Given the description of an element on the screen output the (x, y) to click on. 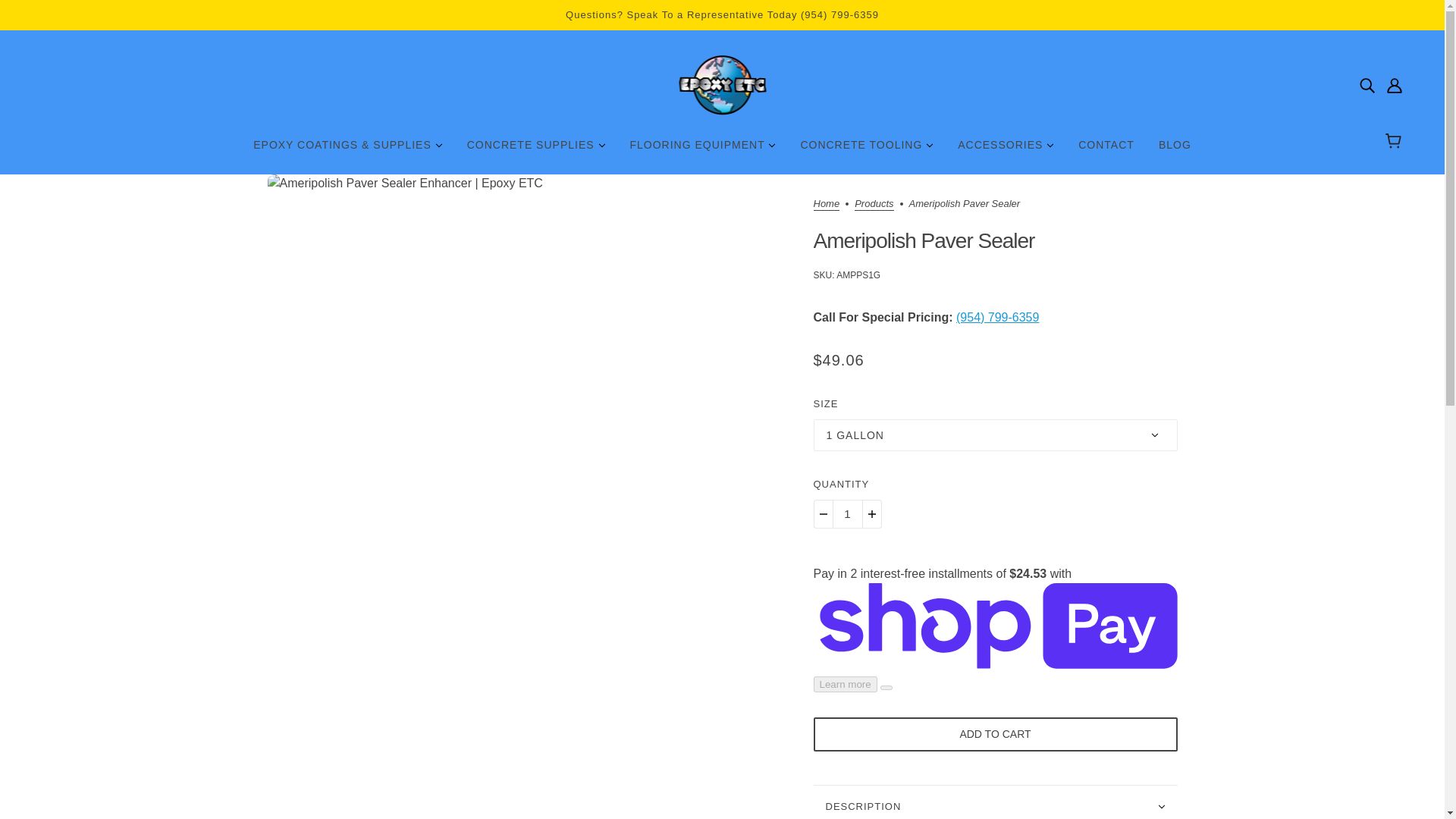
1 (846, 513)
CONCRETE TOOLING (865, 150)
FLOORING EQUIPMENT (702, 150)
EpoxyETC (722, 84)
CONCRETE SUPPLIES (535, 150)
